Given the description of an element on the screen output the (x, y) to click on. 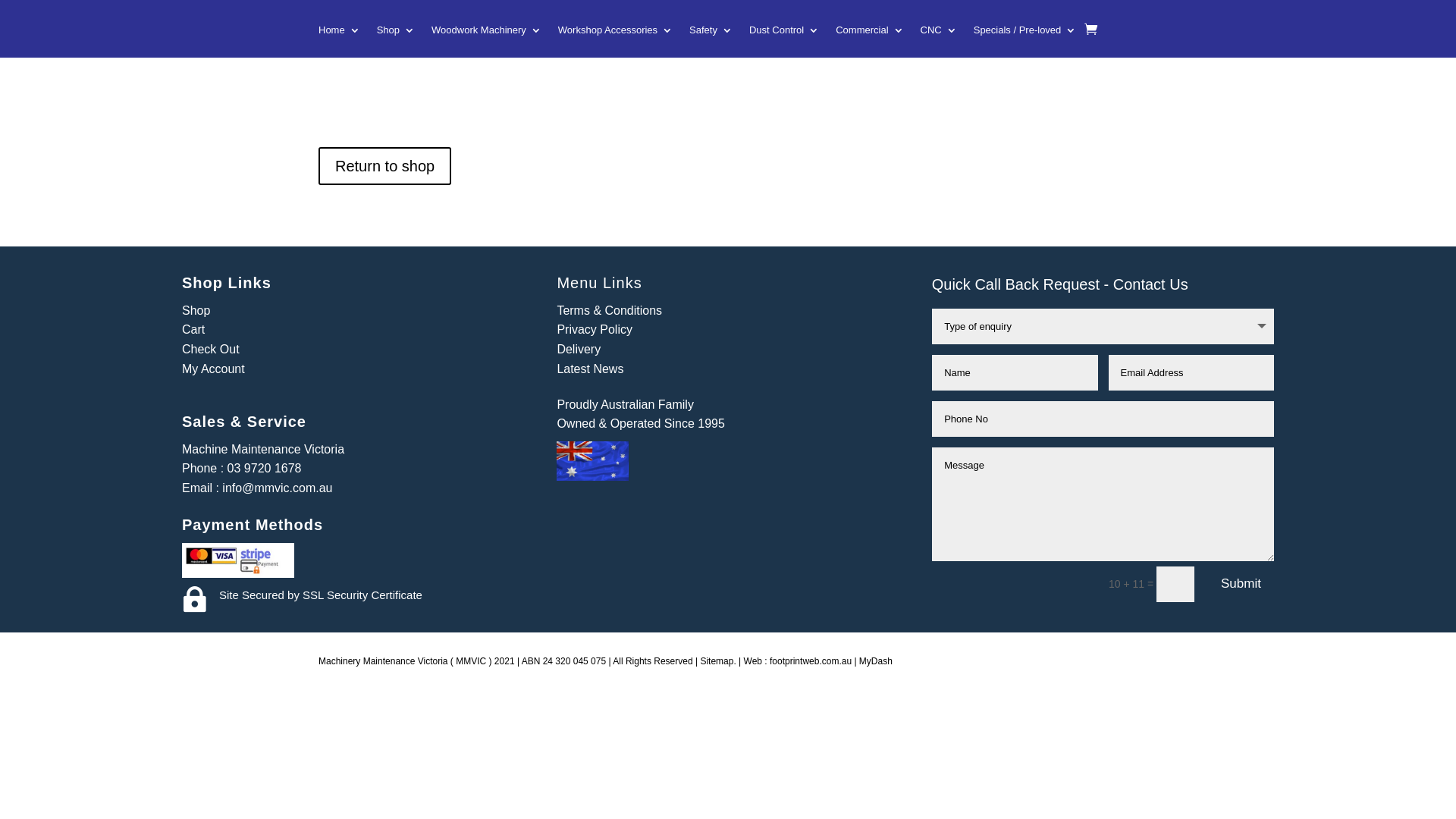
MyDash Element type: text (875, 660)
Check Out Element type: text (210, 348)
Privacy Policy Element type: text (594, 329)
Safety Element type: text (710, 41)
Submit Element type: text (1241, 584)
Woodwork Machinery Element type: text (486, 41)
Cart Element type: text (193, 329)
Home Element type: text (339, 41)
Workshop Accessories Element type: text (615, 41)
Terms & Conditions Element type: text (609, 310)
CNC Element type: text (938, 41)
Shop Element type: text (395, 41)
Specials / Pre-loved Element type: text (1024, 41)
Sitemap Element type: text (716, 660)
Return to shop Element type: text (384, 166)
My Account Element type: text (213, 368)
footprintweb.com.au | Element type: text (814, 660)
Latest News Element type: text (589, 368)
Commercial Element type: text (869, 41)
Shop Element type: text (196, 310)
Delivery Element type: text (578, 348)
Dust Control Element type: text (784, 41)
